Given the description of an element on the screen output the (x, y) to click on. 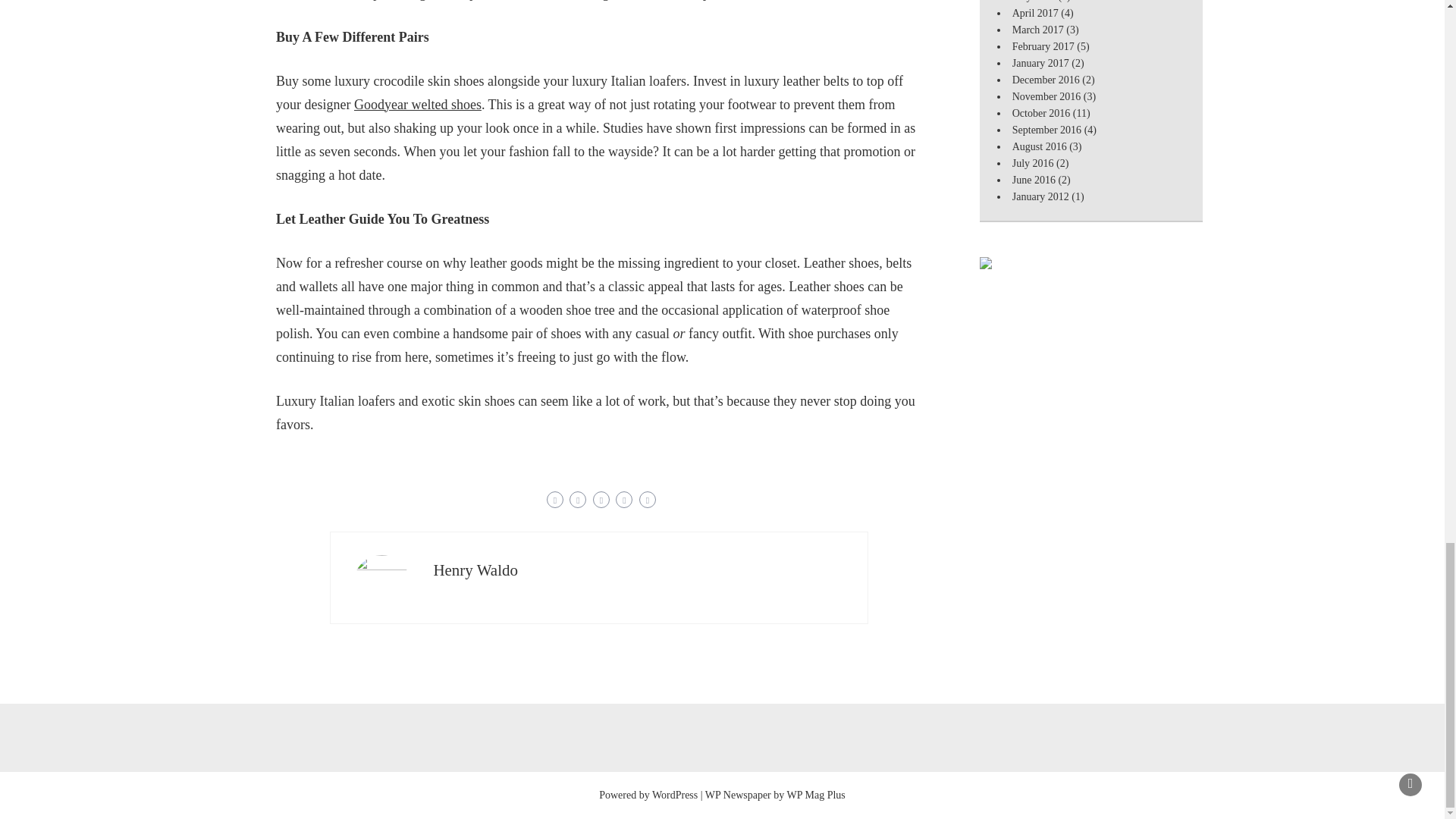
Get more info about Exotic mens boots (417, 103)
Goodyear welted shoes (417, 103)
Henry Waldo (475, 569)
